Given the description of an element on the screen output the (x, y) to click on. 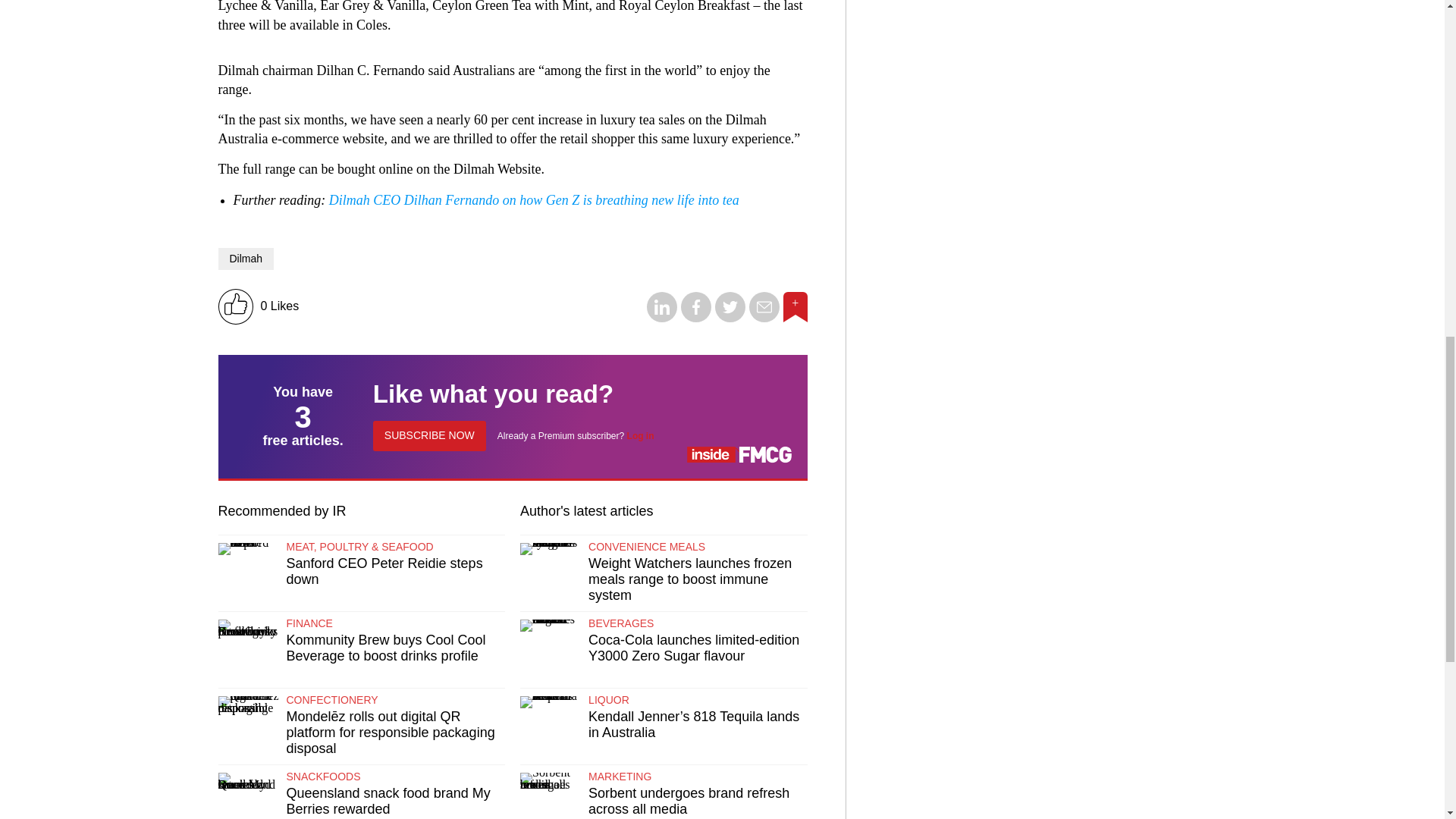
Share on LinkedIn (661, 318)
Share on Email (764, 318)
Share on Facebook (695, 318)
Share on Twitter (730, 318)
